Given the description of an element on the screen output the (x, y) to click on. 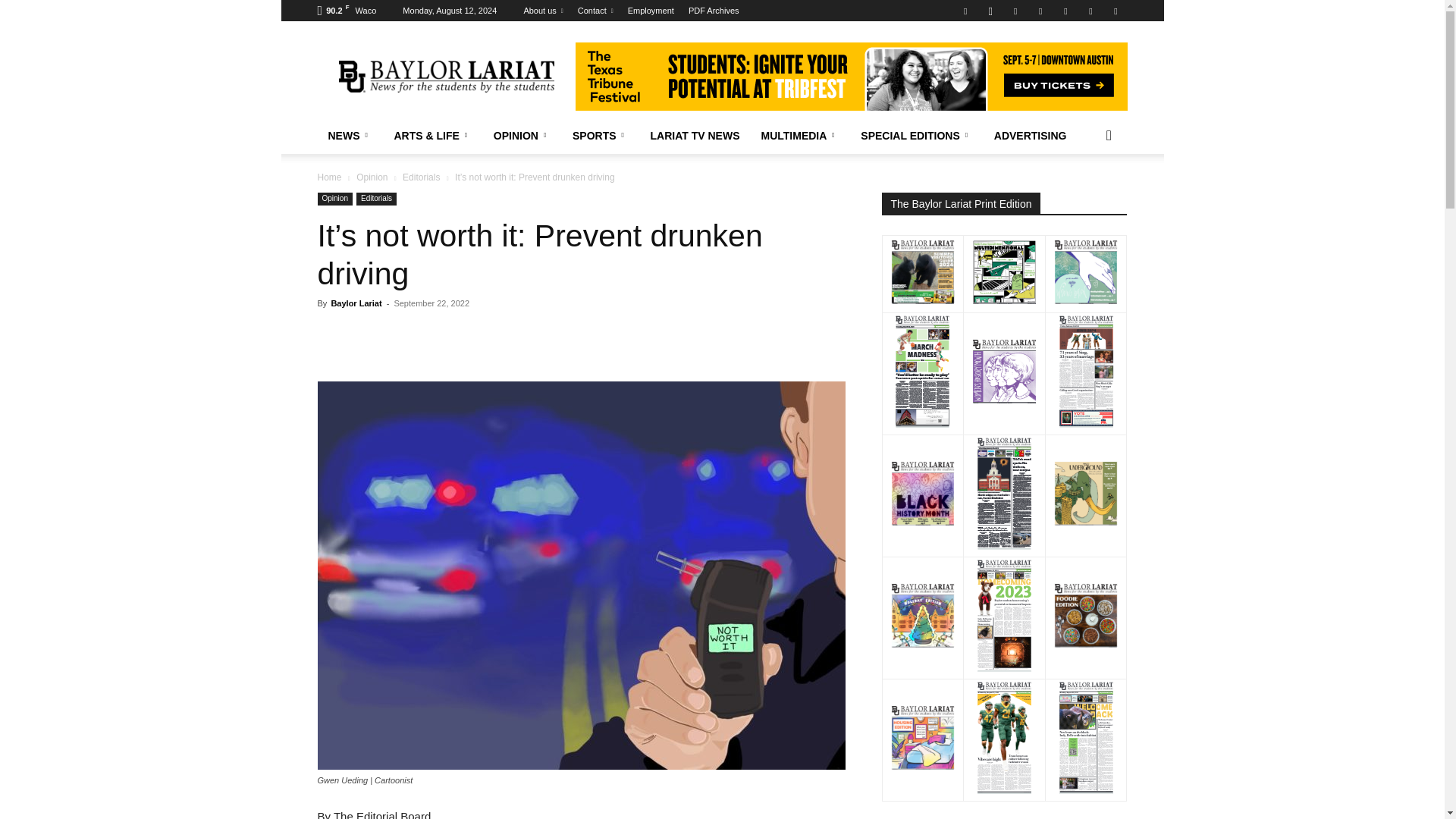
Contact the Lariat (595, 10)
Linkedin (1015, 10)
Instagram (989, 10)
Student Employment (650, 10)
Facebook (964, 10)
